Given the description of an element on the screen output the (x, y) to click on. 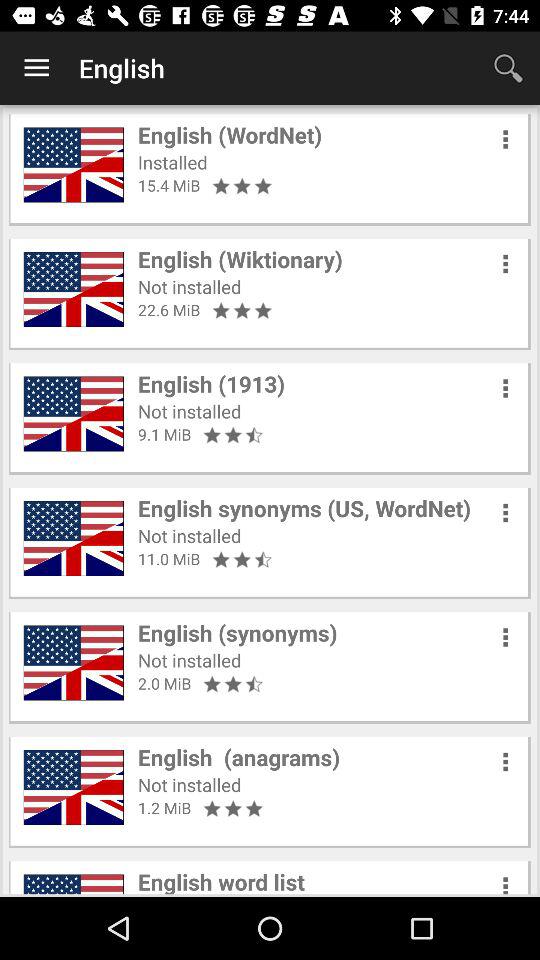
turn on the item above not installed item (211, 383)
